Given the description of an element on the screen output the (x, y) to click on. 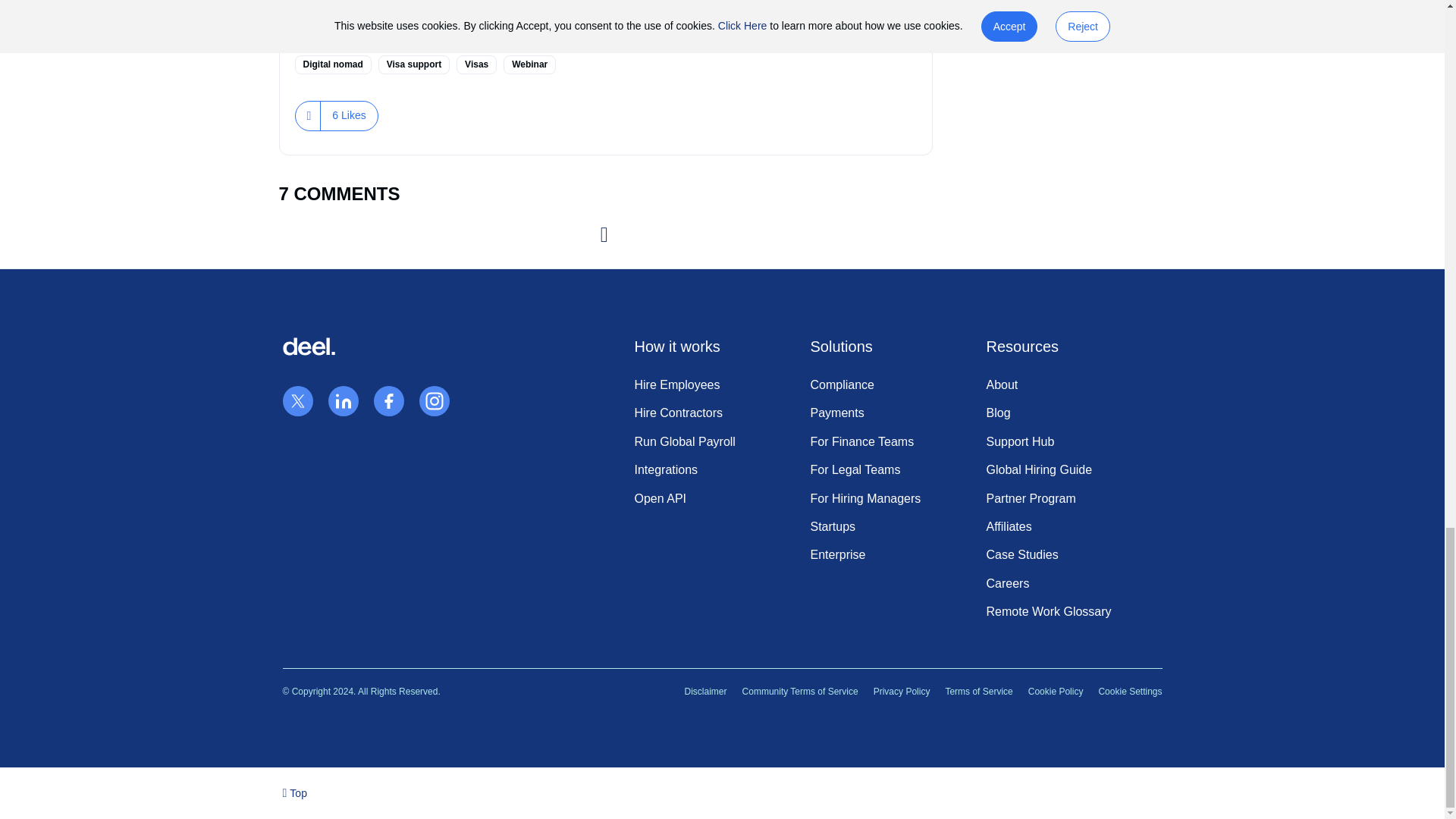
Top (293, 792)
Top (293, 792)
